Given the description of an element on the screen output the (x, y) to click on. 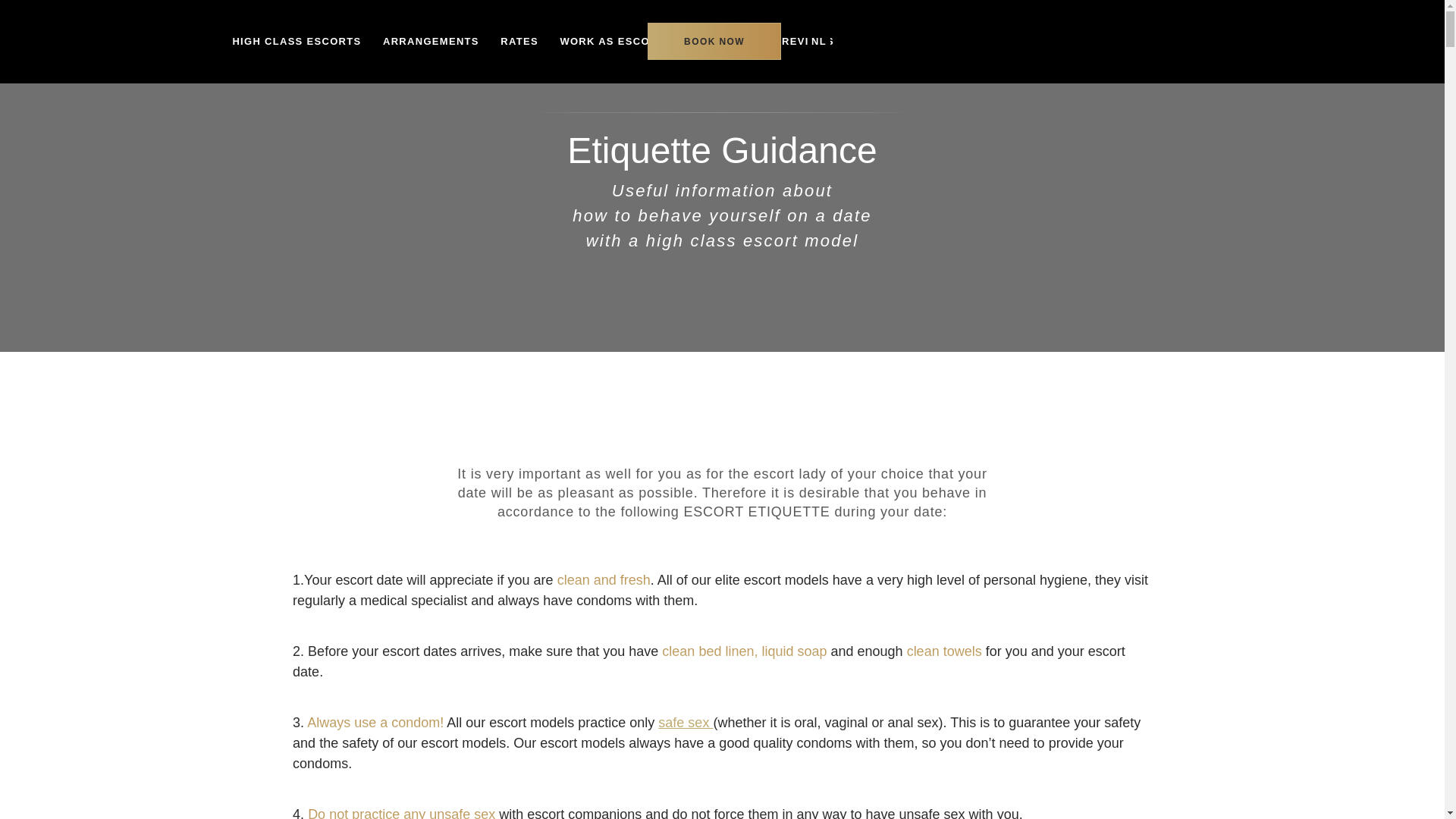
HIGH CLASS ESCORTS (296, 30)
RATES (518, 30)
Arrangements (430, 30)
ARRANGEMENTS (430, 30)
High class escorts (296, 30)
